Given the description of an element on the screen output the (x, y) to click on. 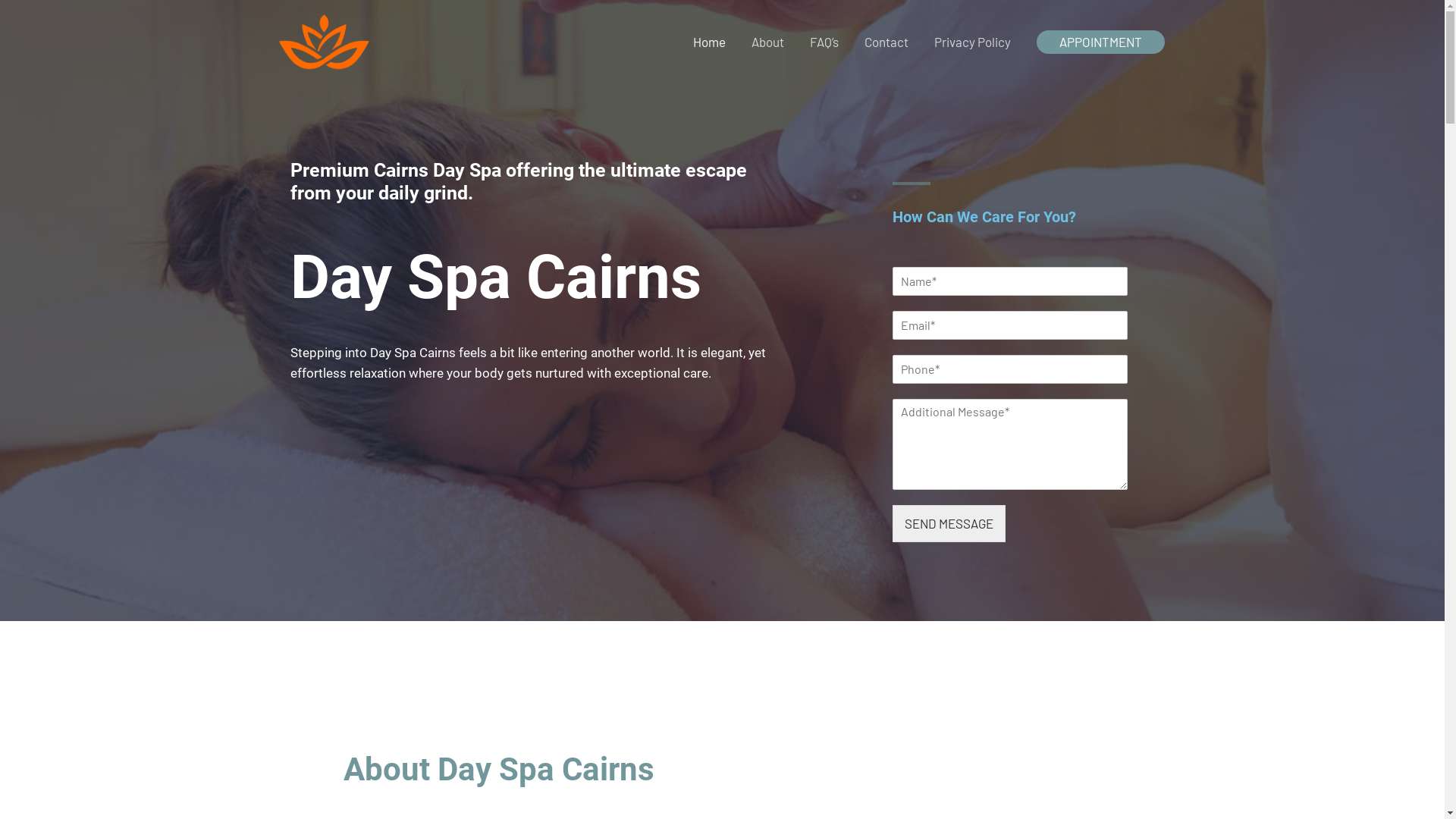
About Element type: text (767, 41)
Home Element type: text (708, 41)
Contact Element type: text (885, 41)
SEND MESSAGE Element type: text (948, 523)
APPOINTMENT Element type: text (1099, 41)
Privacy Policy Element type: text (971, 41)
